Given the description of an element on the screen output the (x, y) to click on. 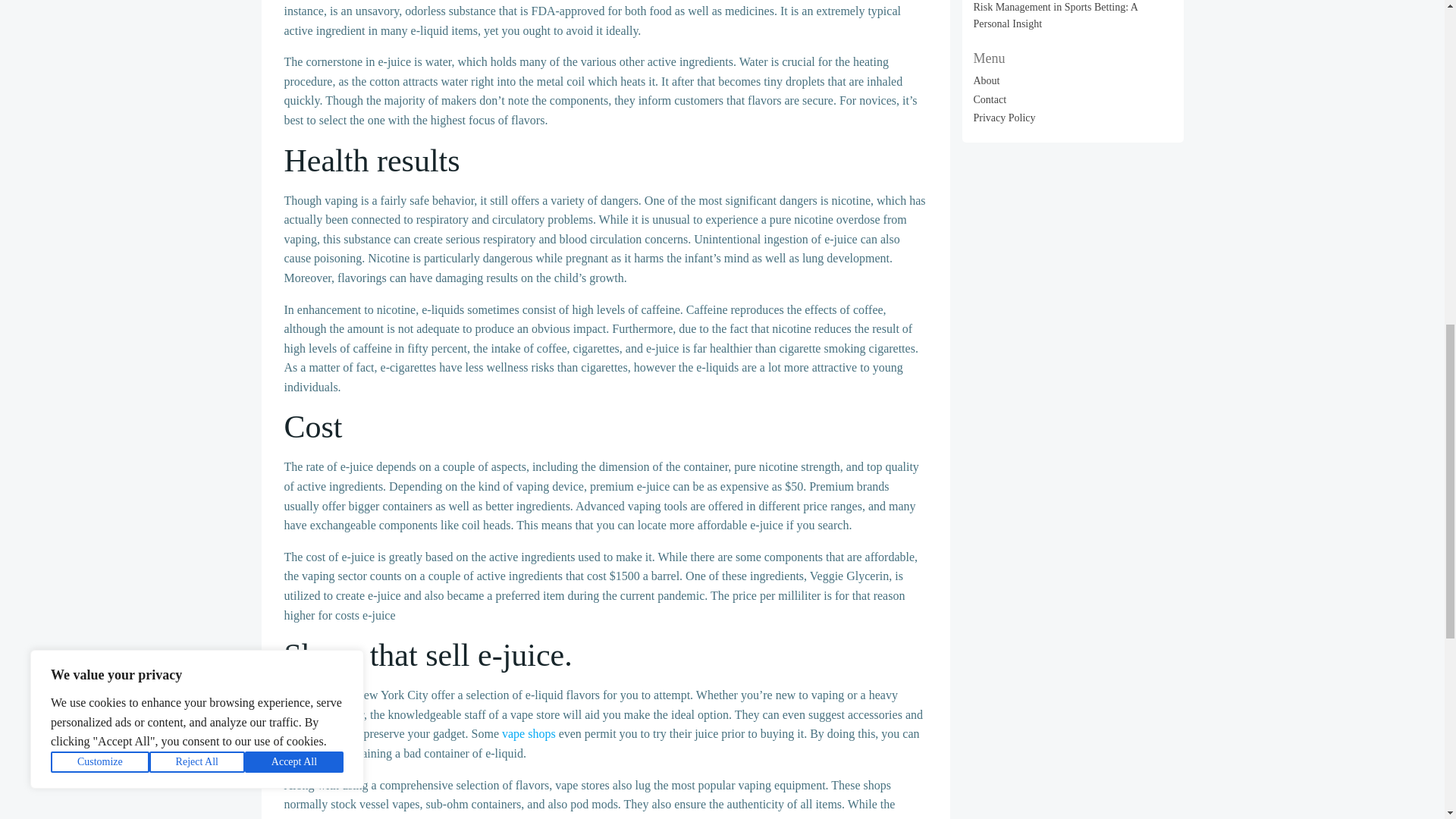
vape shops (529, 733)
